Given the description of an element on the screen output the (x, y) to click on. 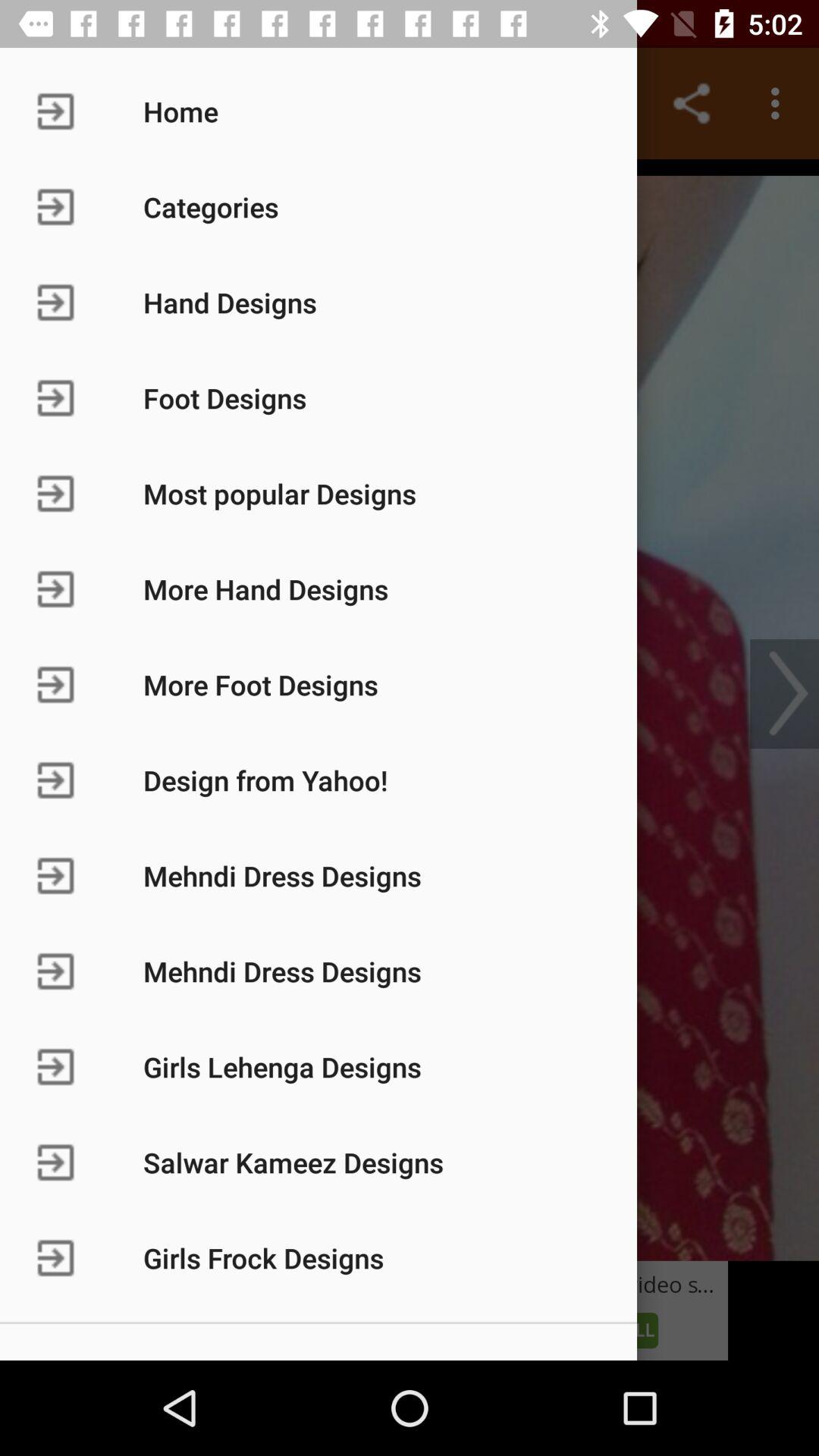
various options to select (409, 709)
